Given the description of an element on the screen output the (x, y) to click on. 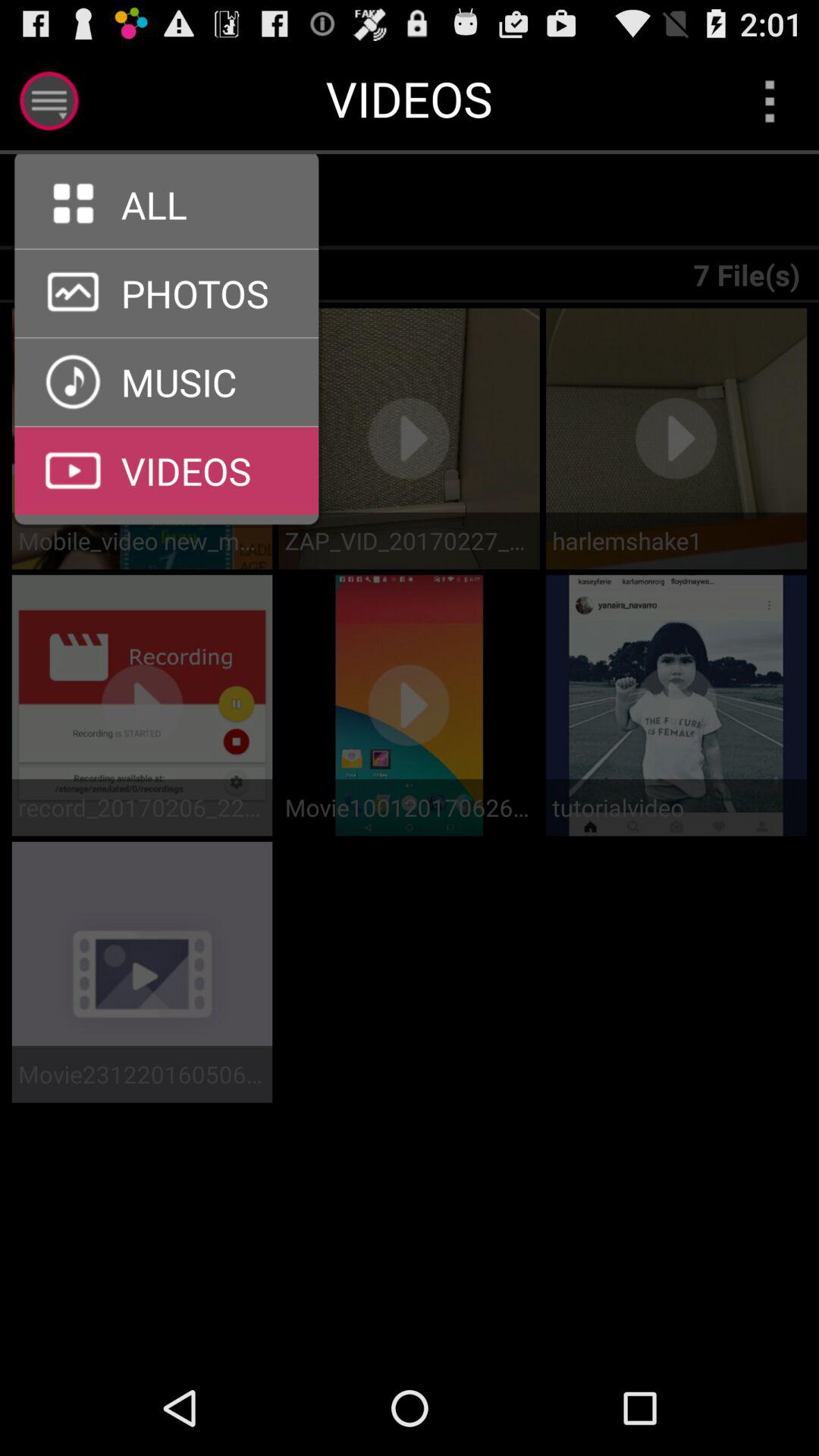
click icon below the videos icon (176, 201)
